Given the description of an element on the screen output the (x, y) to click on. 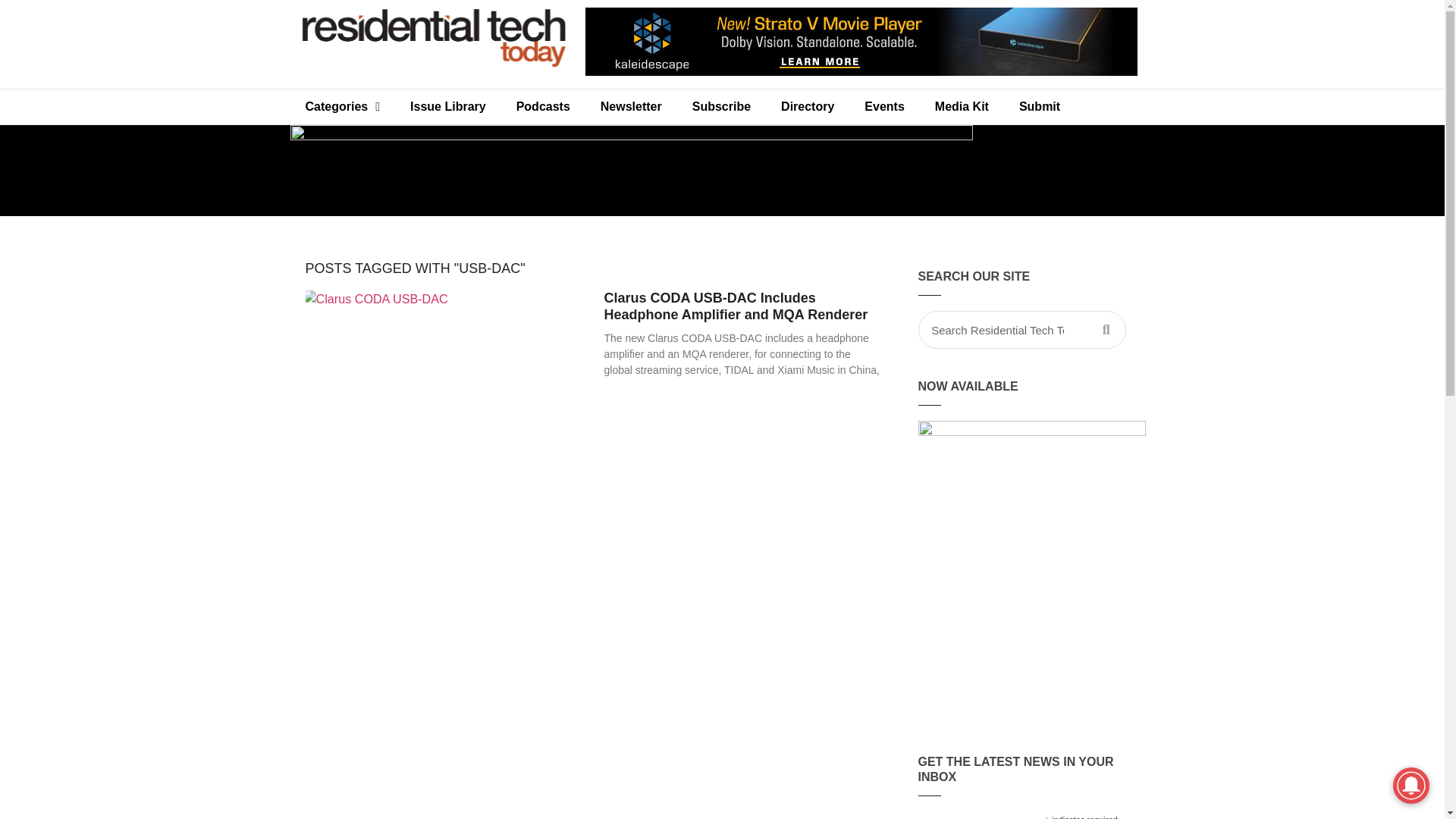
Categories (341, 106)
Events (883, 106)
Clarus CODA USB-DAC (440, 380)
Issue Library (447, 106)
Newsletter (631, 106)
Podcasts (542, 106)
Subscribe (721, 106)
Submit (1039, 106)
Directory (806, 106)
Media Kit (962, 106)
